Given the description of an element on the screen output the (x, y) to click on. 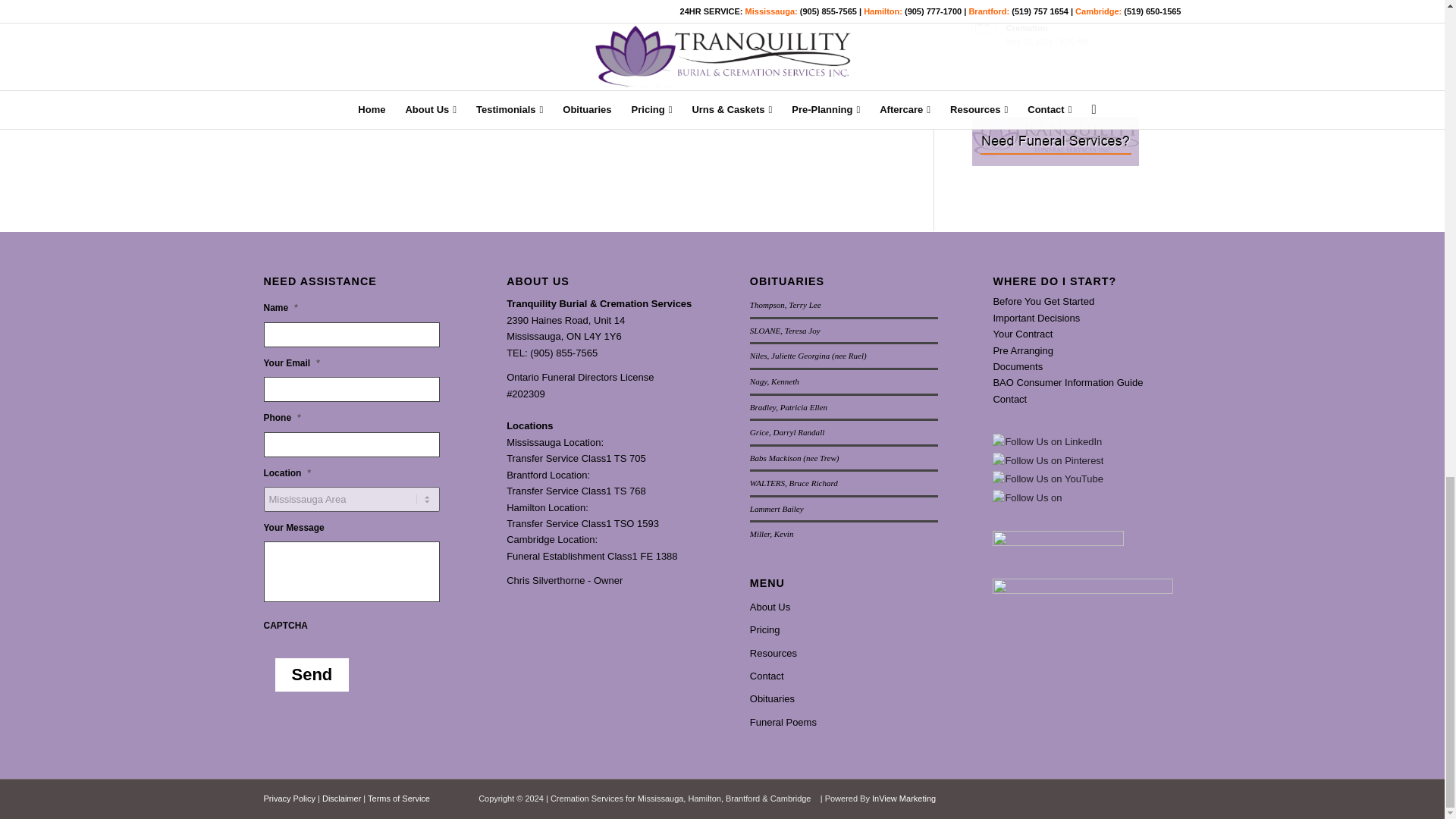
Creative Ways to Remember After Cremation (1076, 27)
Send (312, 674)
Follow Us on LinkedIn (1047, 441)
